Given the description of an element on the screen output the (x, y) to click on. 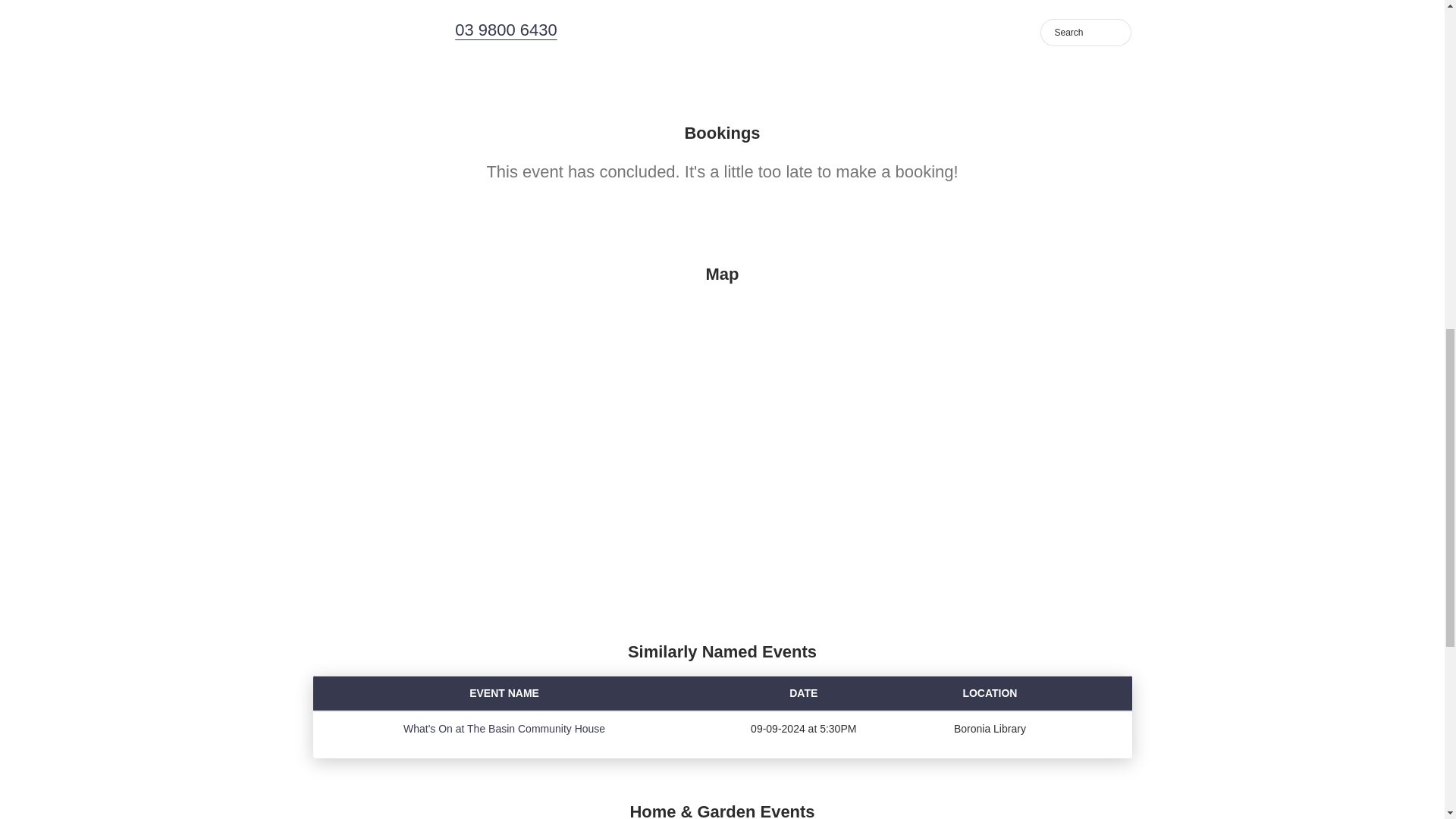
What's On at The Basin Community House (504, 728)
03 9800 6430 (505, 29)
